Given the description of an element on the screen output the (x, y) to click on. 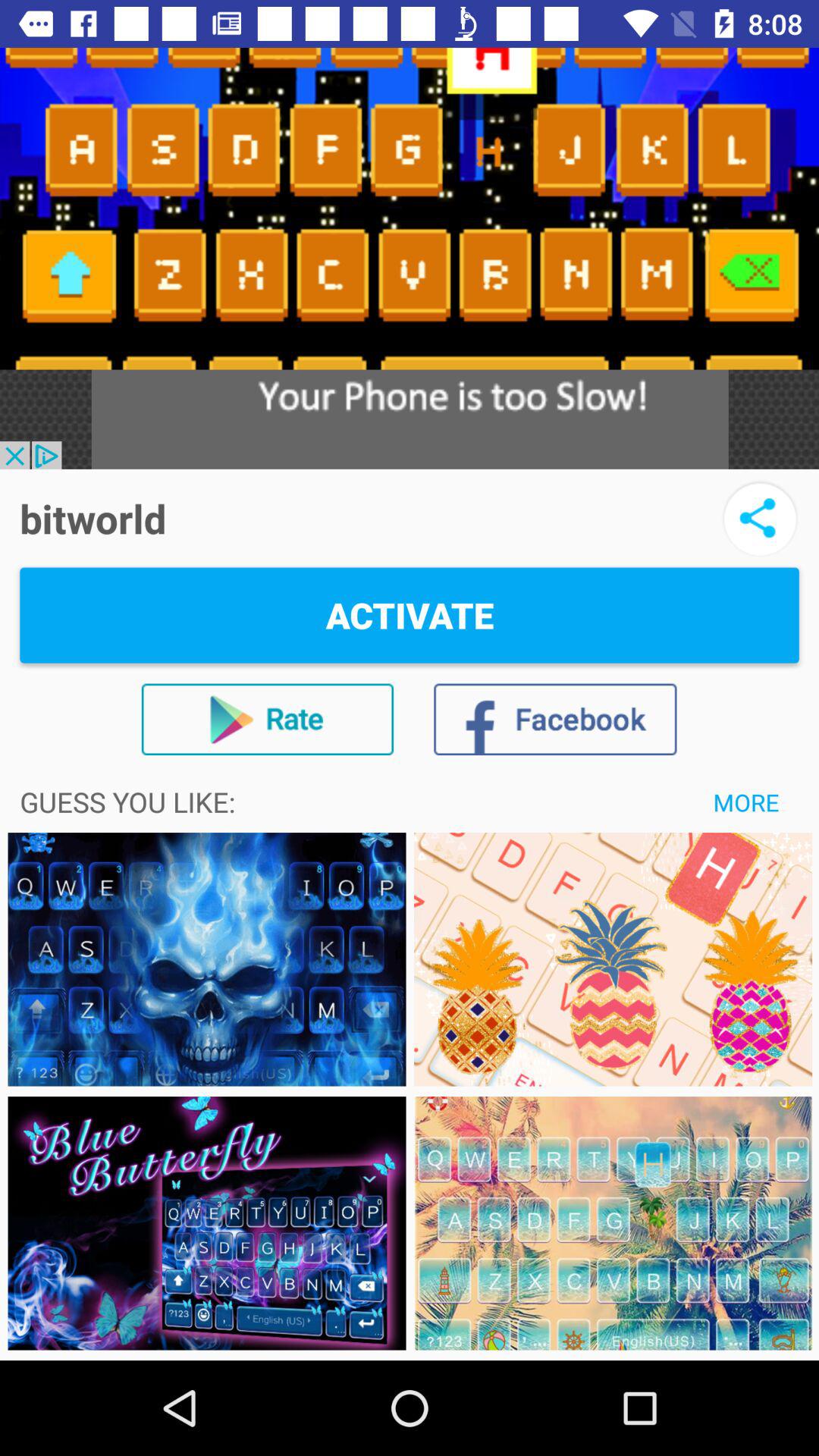
select the image which is at the bottom on the right side (613, 1223)
